Given the description of an element on the screen output the (x, y) to click on. 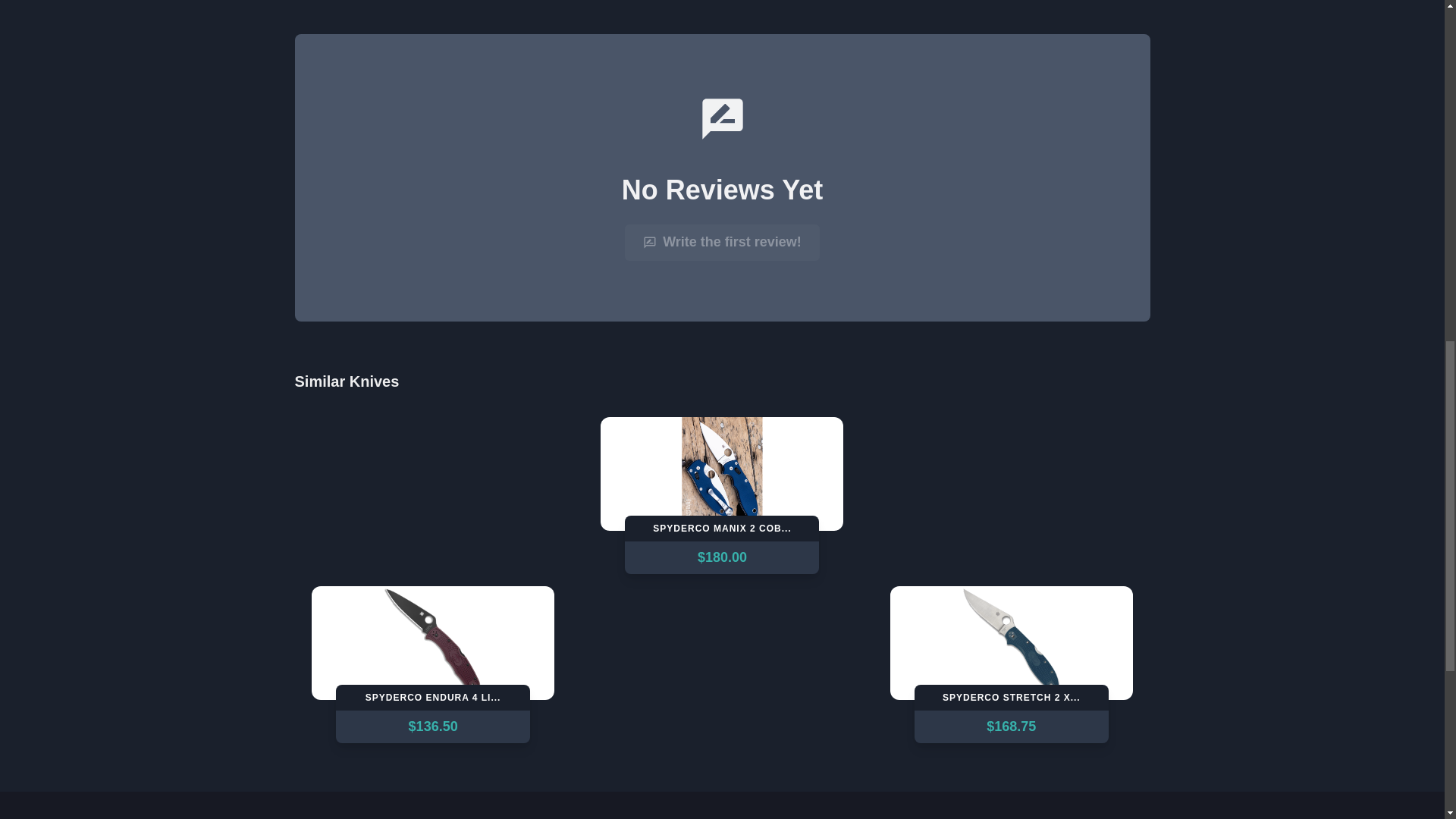
Write the first review! (721, 242)
